Given the description of an element on the screen output the (x, y) to click on. 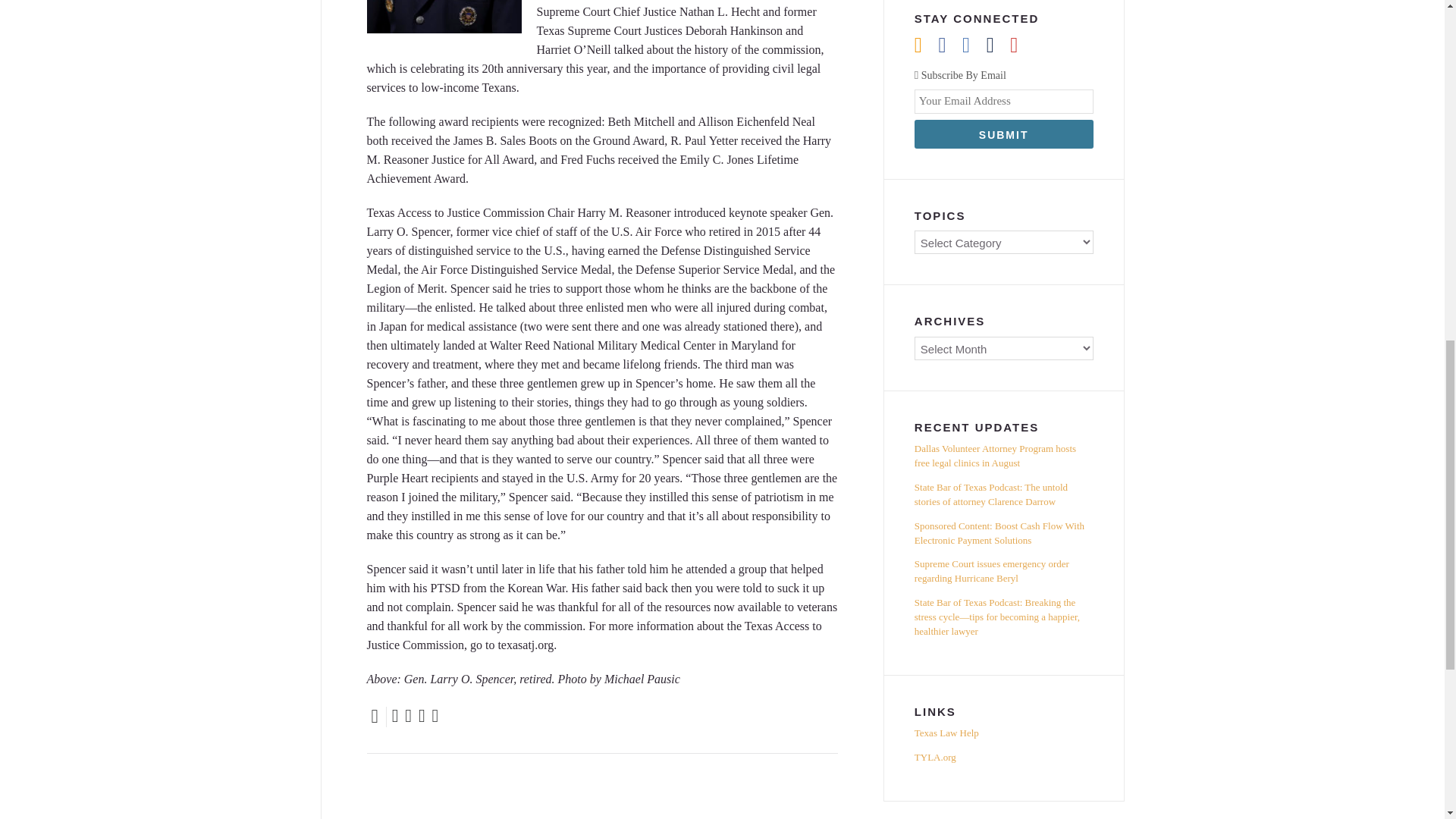
Subscribe By Email (1003, 75)
SUBMIT (1003, 133)
Texas Law Help (1003, 735)
SUBMIT (1003, 133)
TYLA.org (1003, 757)
